Given the description of an element on the screen output the (x, y) to click on. 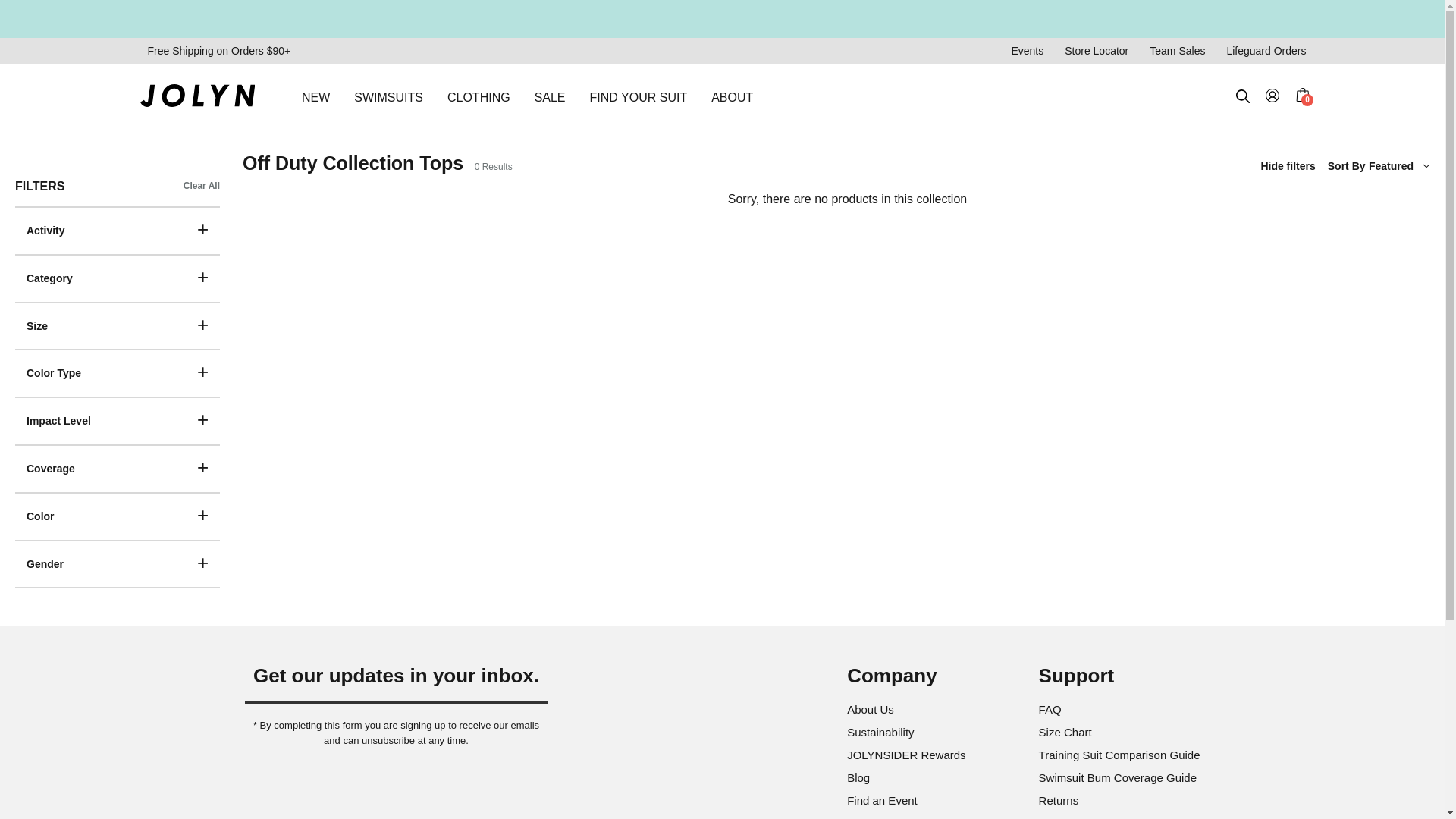
Store Locator (1096, 50)
Lifeguard Orders (1265, 50)
Events (1026, 50)
SWIMSUITS (388, 97)
Team Sales (1177, 50)
CLOTHING (478, 97)
